Given the description of an element on the screen output the (x, y) to click on. 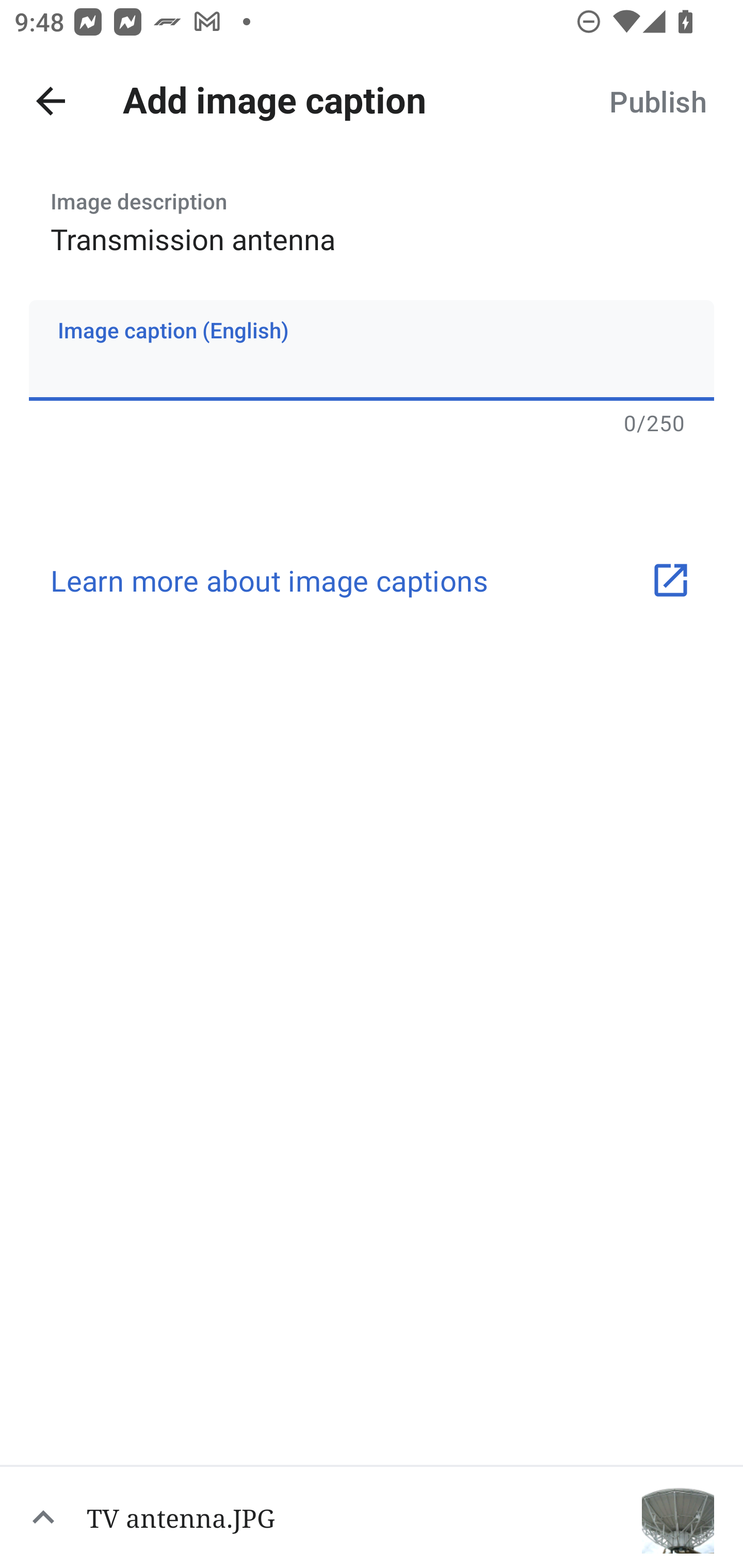
Cancel (50, 101)
Publish (657, 101)
Image description Transmission antenna (371, 215)
Image caption (English) (371, 350)
Learn more about image captions (371, 580)
TV antenna.JPG (371, 1516)
